Given the description of an element on the screen output the (x, y) to click on. 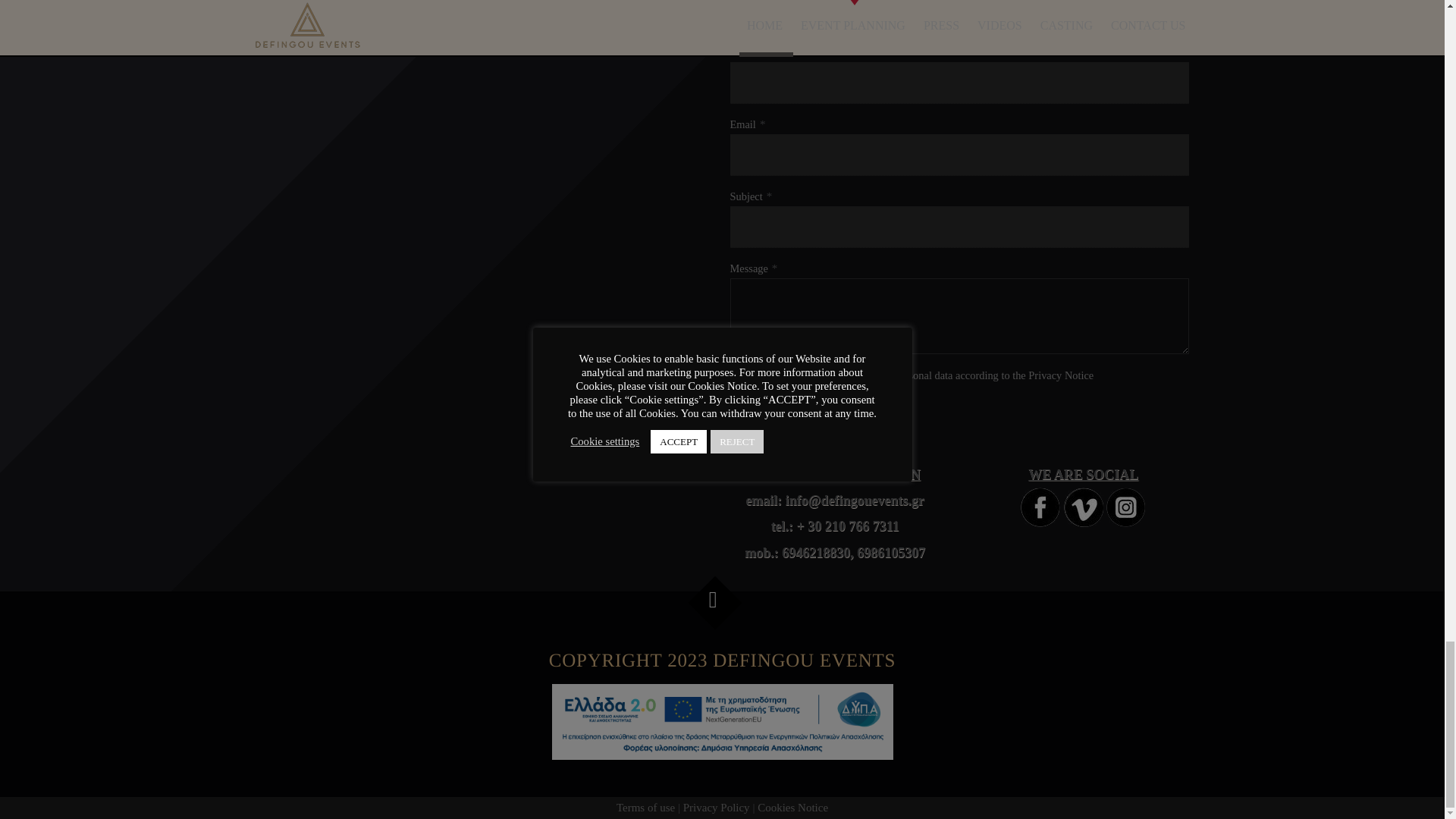
Submit (750, 410)
